Given the description of an element on the screen output the (x, y) to click on. 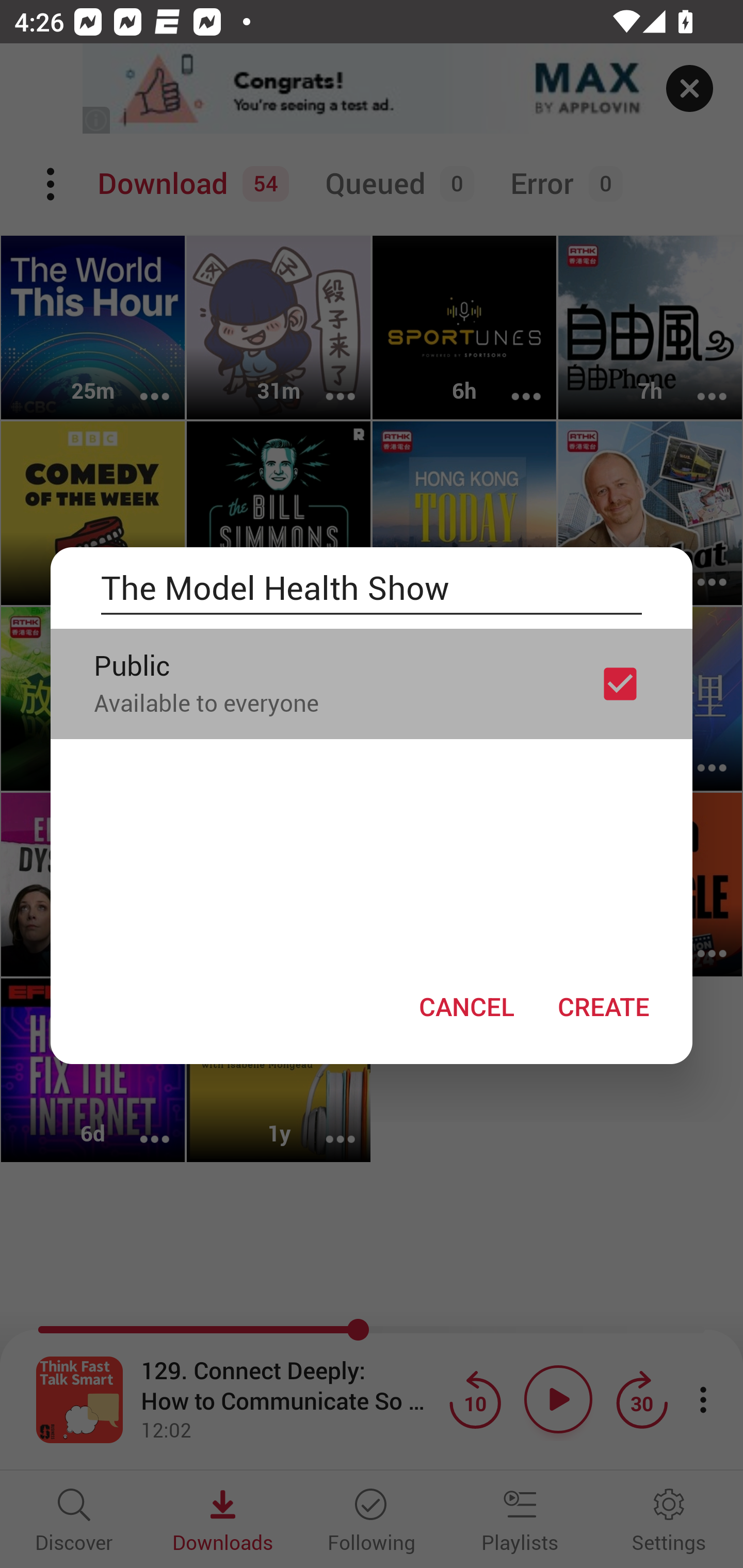
The Model Health Show (371, 587)
Public Available to everyone (371, 683)
CANCEL (465, 1005)
CREATE (602, 1005)
